Given the description of an element on the screen output the (x, y) to click on. 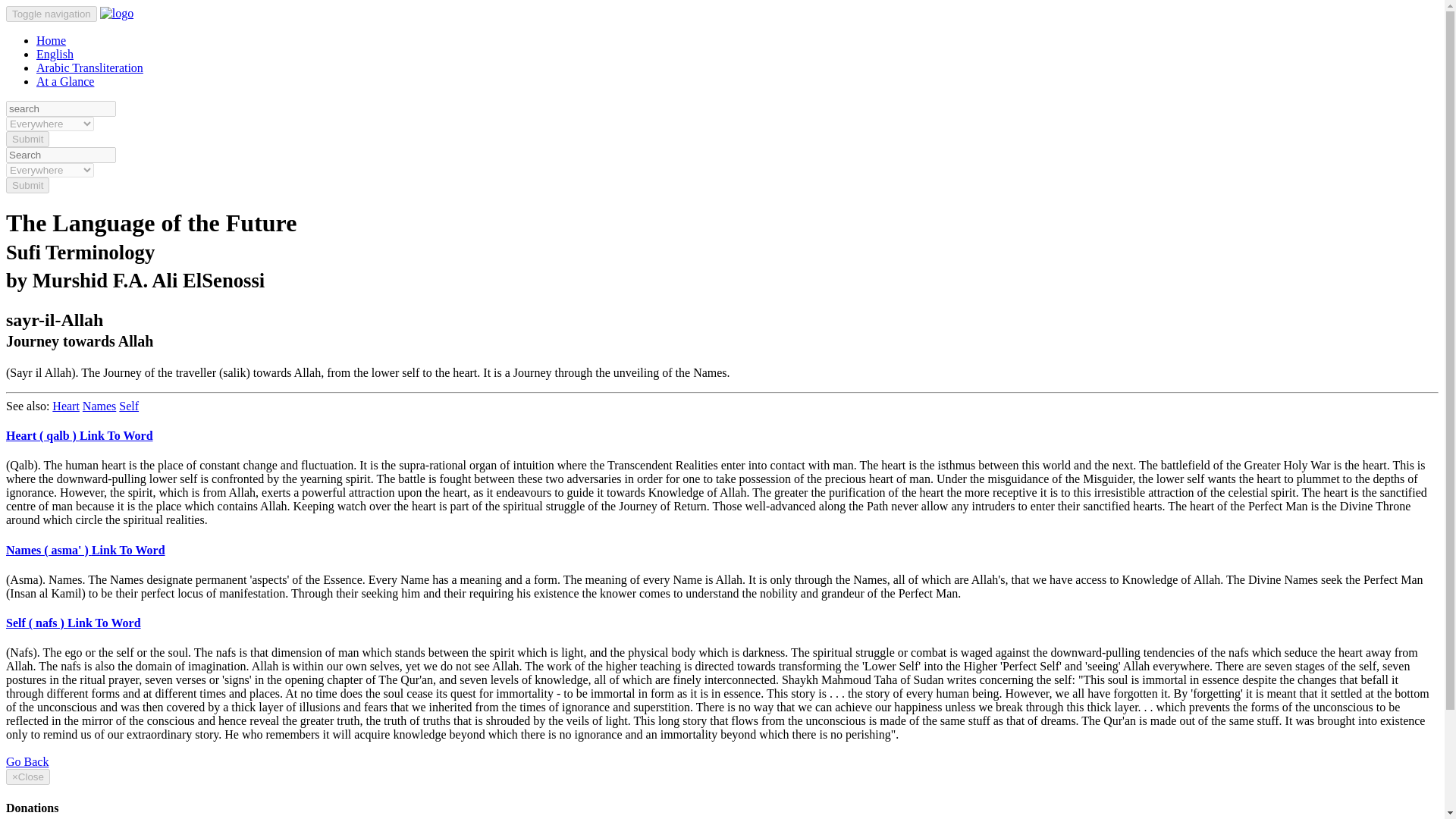
Submit (27, 185)
Toggle navigation (51, 13)
Home (50, 40)
Arabic Transliteration (89, 67)
Link To Word (103, 622)
Submit (27, 139)
Submit (27, 185)
Link To Word (128, 549)
Submit (27, 139)
Link To Word (116, 435)
Heart (66, 405)
Go Back (26, 761)
Self (128, 405)
English (55, 53)
Names (99, 405)
